Given the description of an element on the screen output the (x, y) to click on. 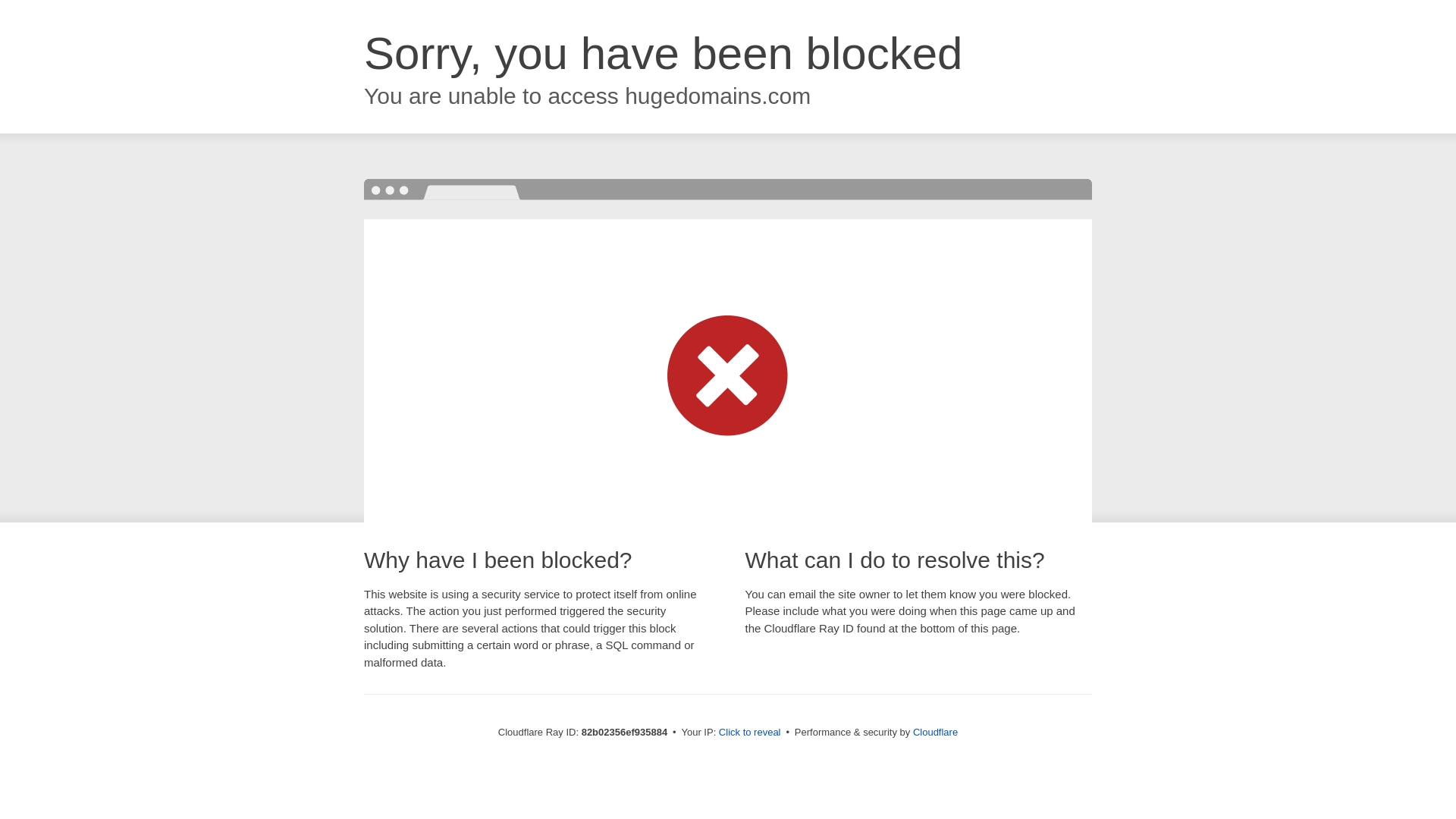
Click to reveal Element type: text (749, 732)
Cloudflare Element type: text (935, 731)
